Given the description of an element on the screen output the (x, y) to click on. 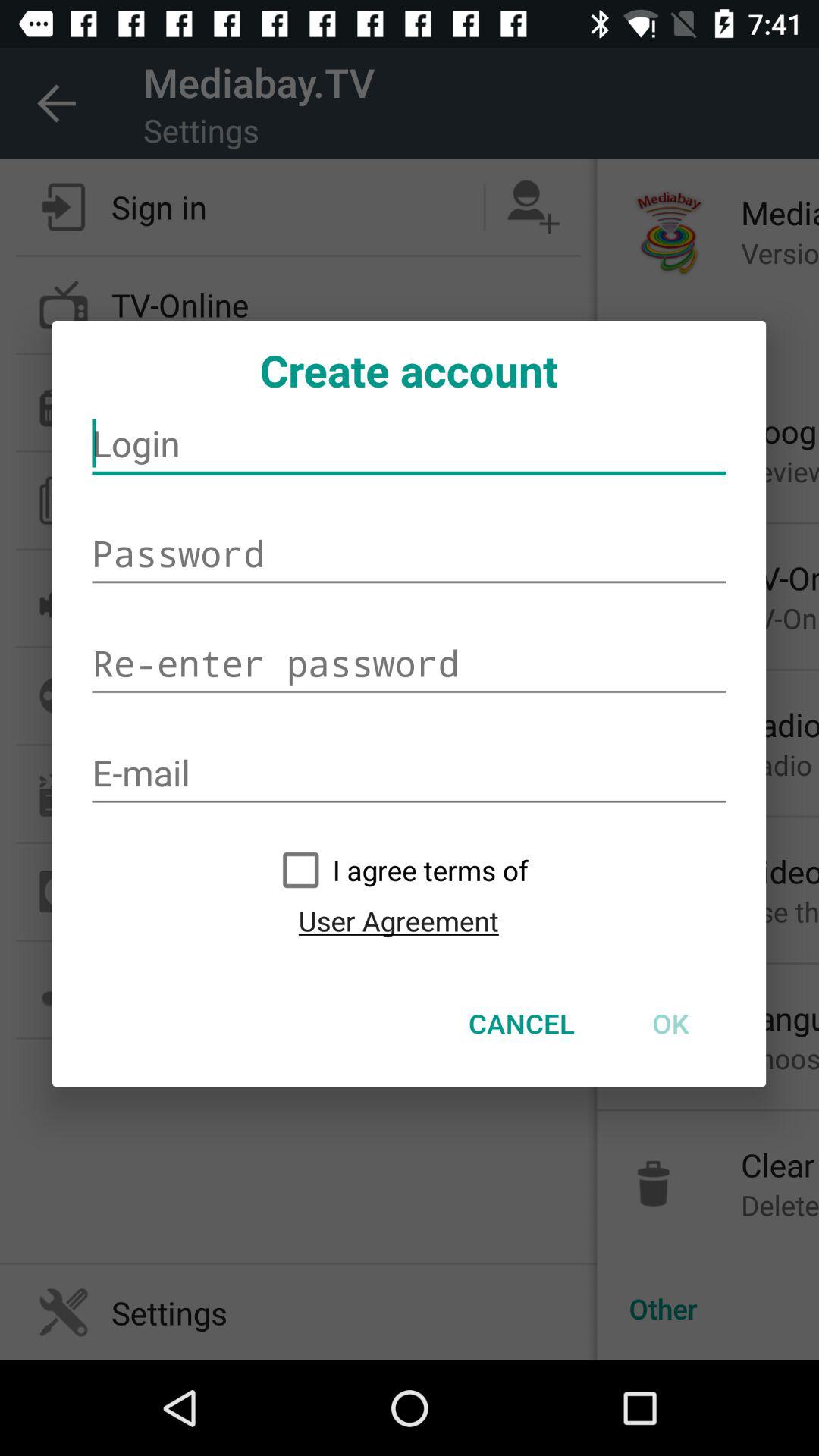
press icon below the create account (409, 444)
